Given the description of an element on the screen output the (x, y) to click on. 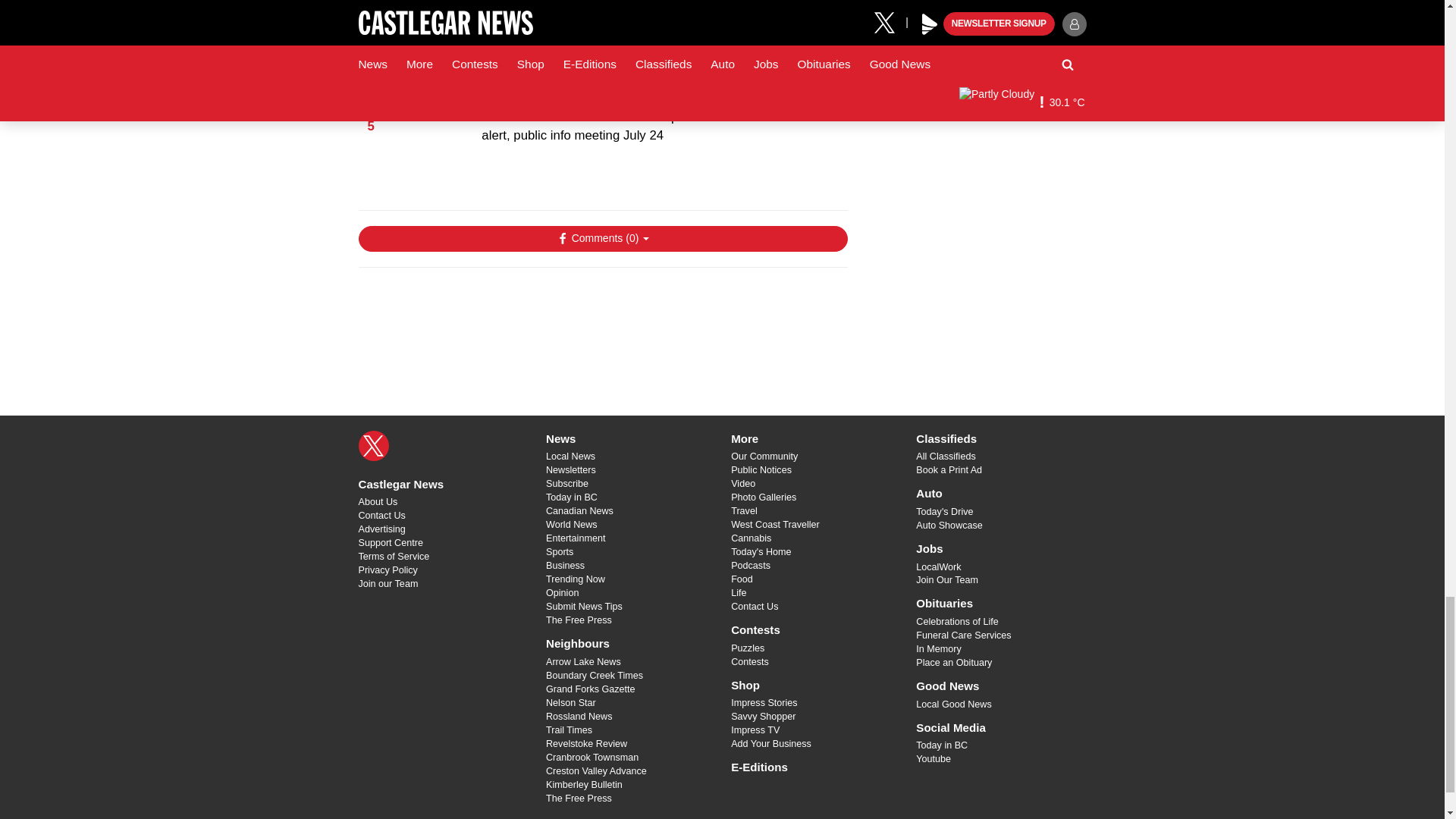
X (373, 445)
Show Comments (602, 238)
